Given the description of an element on the screen output the (x, y) to click on. 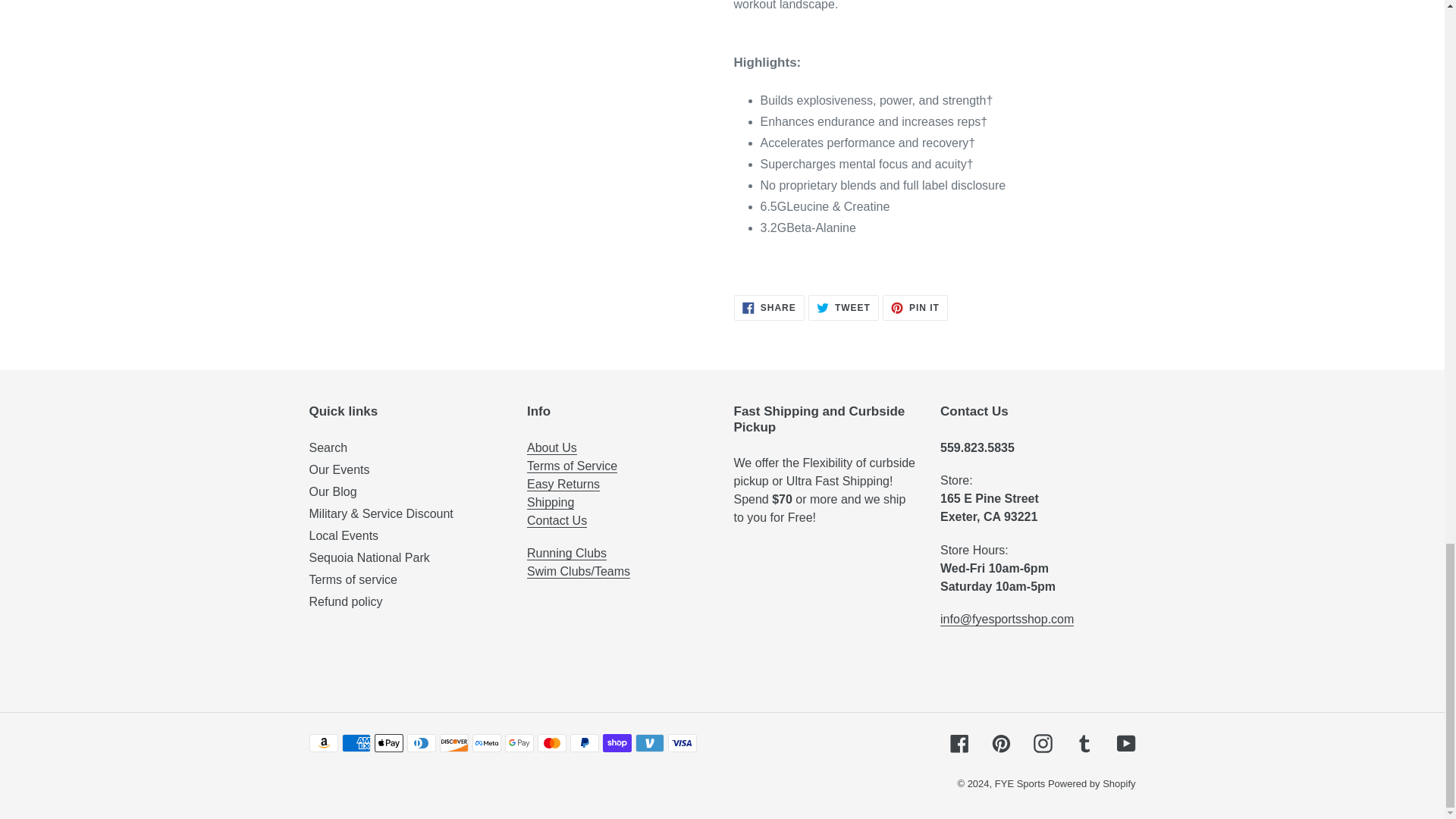
Running Clubs (567, 553)
Terms of Service (572, 466)
Shipping (550, 502)
Easy Returns (563, 484)
About Us (551, 448)
Contact Us (556, 520)
Swim Department (578, 571)
